Given the description of an element on the screen output the (x, y) to click on. 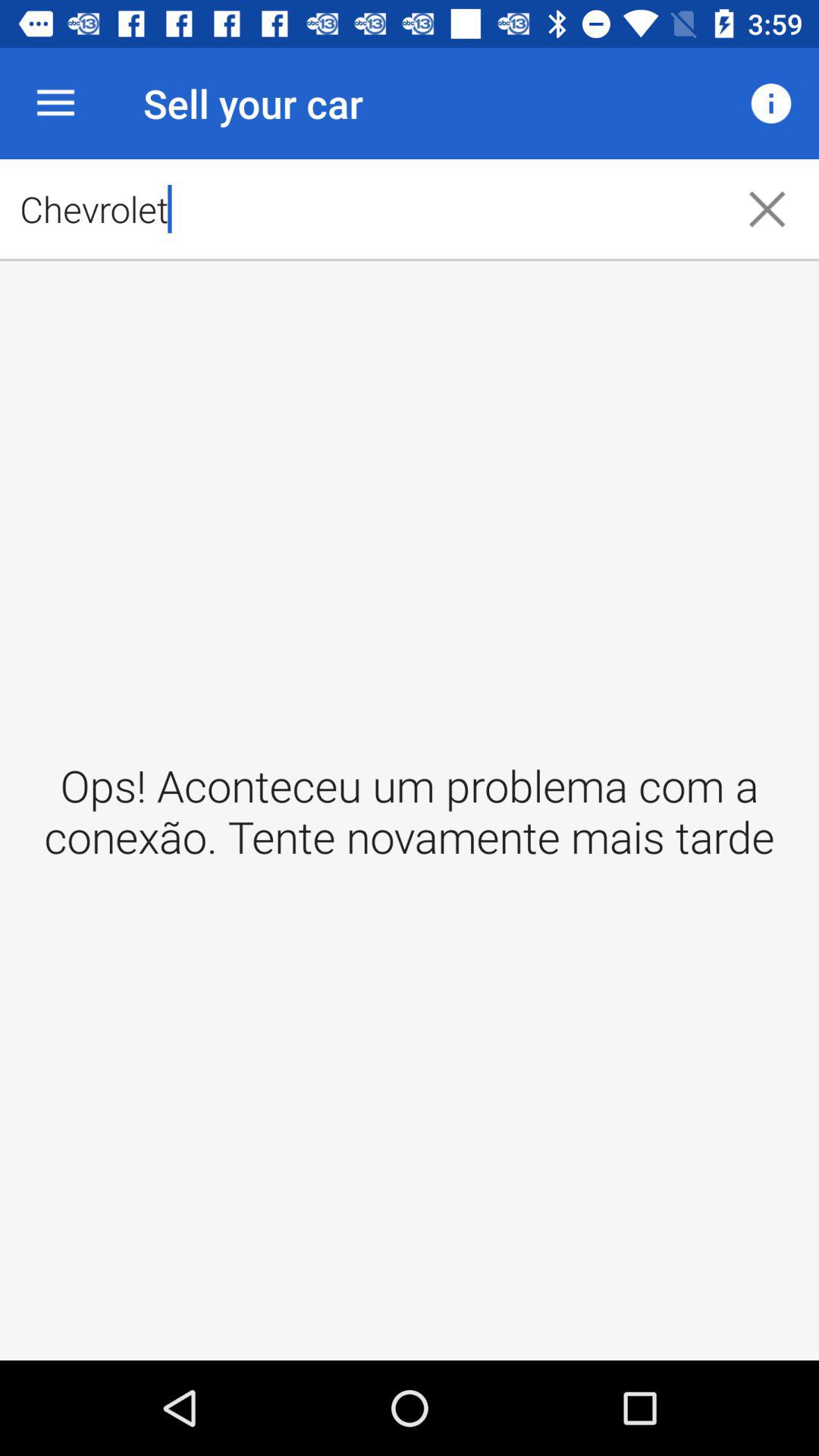
cancel text (767, 208)
